Given the description of an element on the screen output the (x, y) to click on. 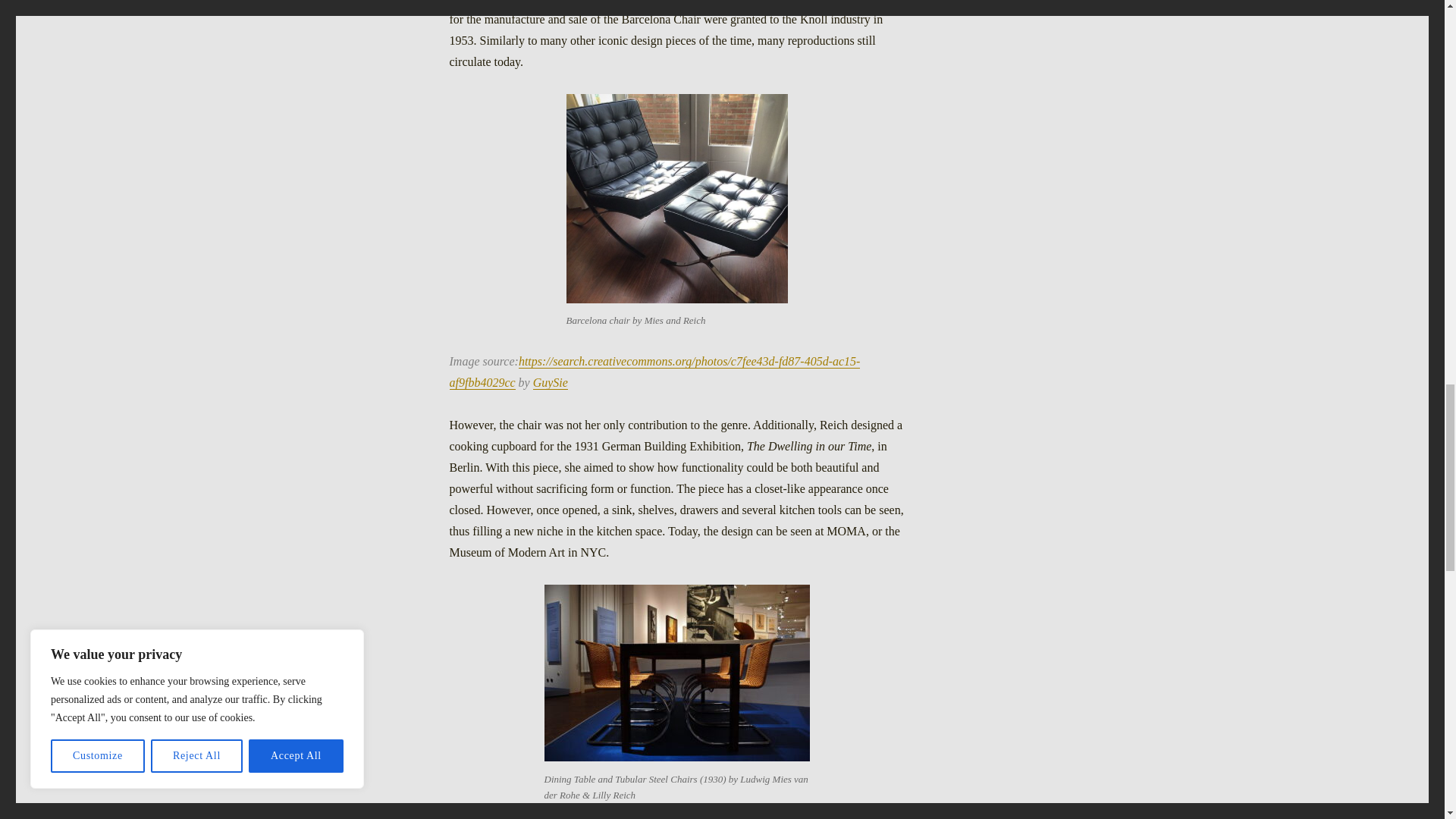
GuySie (549, 382)
